Given the description of an element on the screen output the (x, y) to click on. 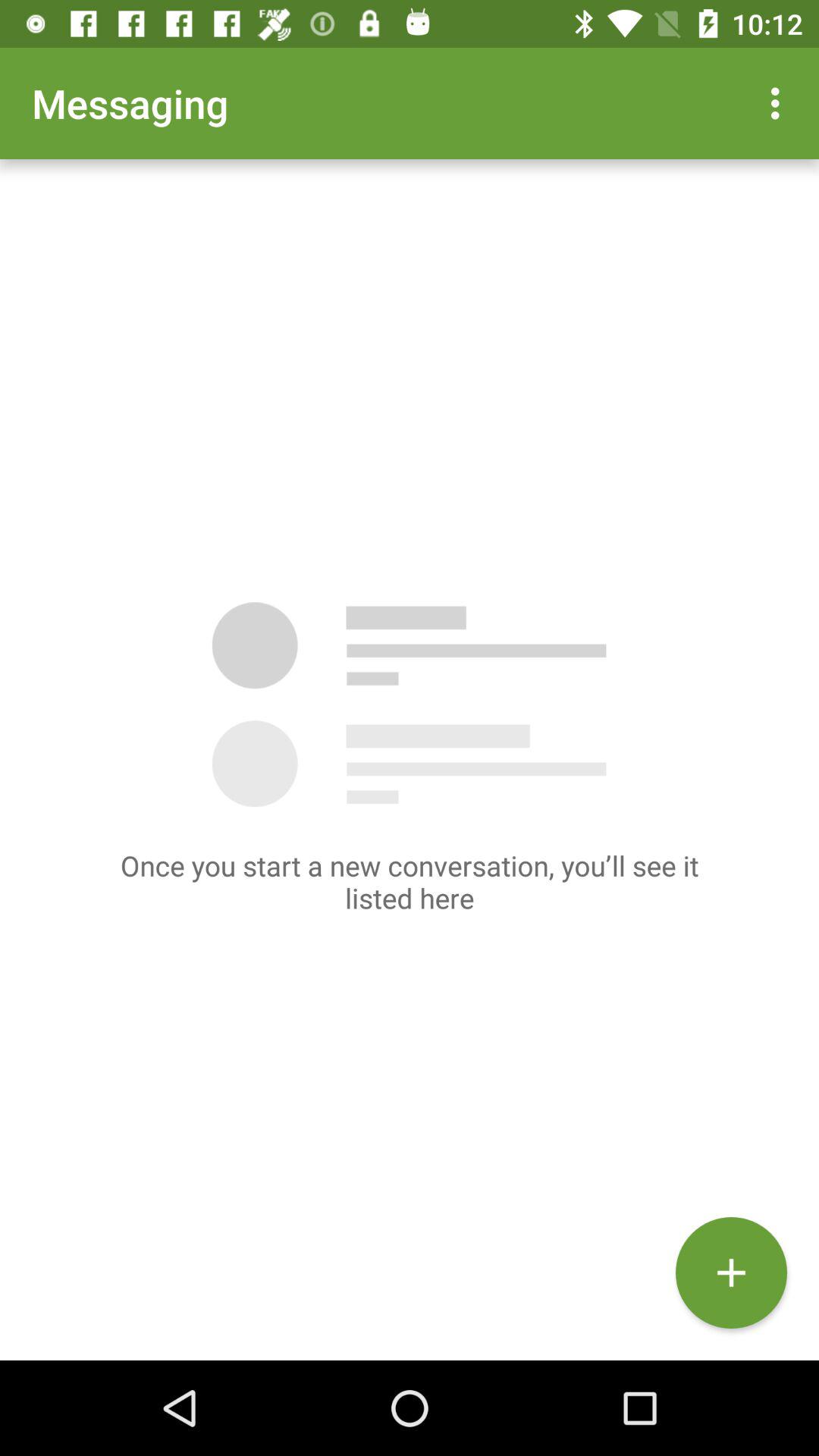
select the icon next to the messaging (779, 103)
